Given the description of an element on the screen output the (x, y) to click on. 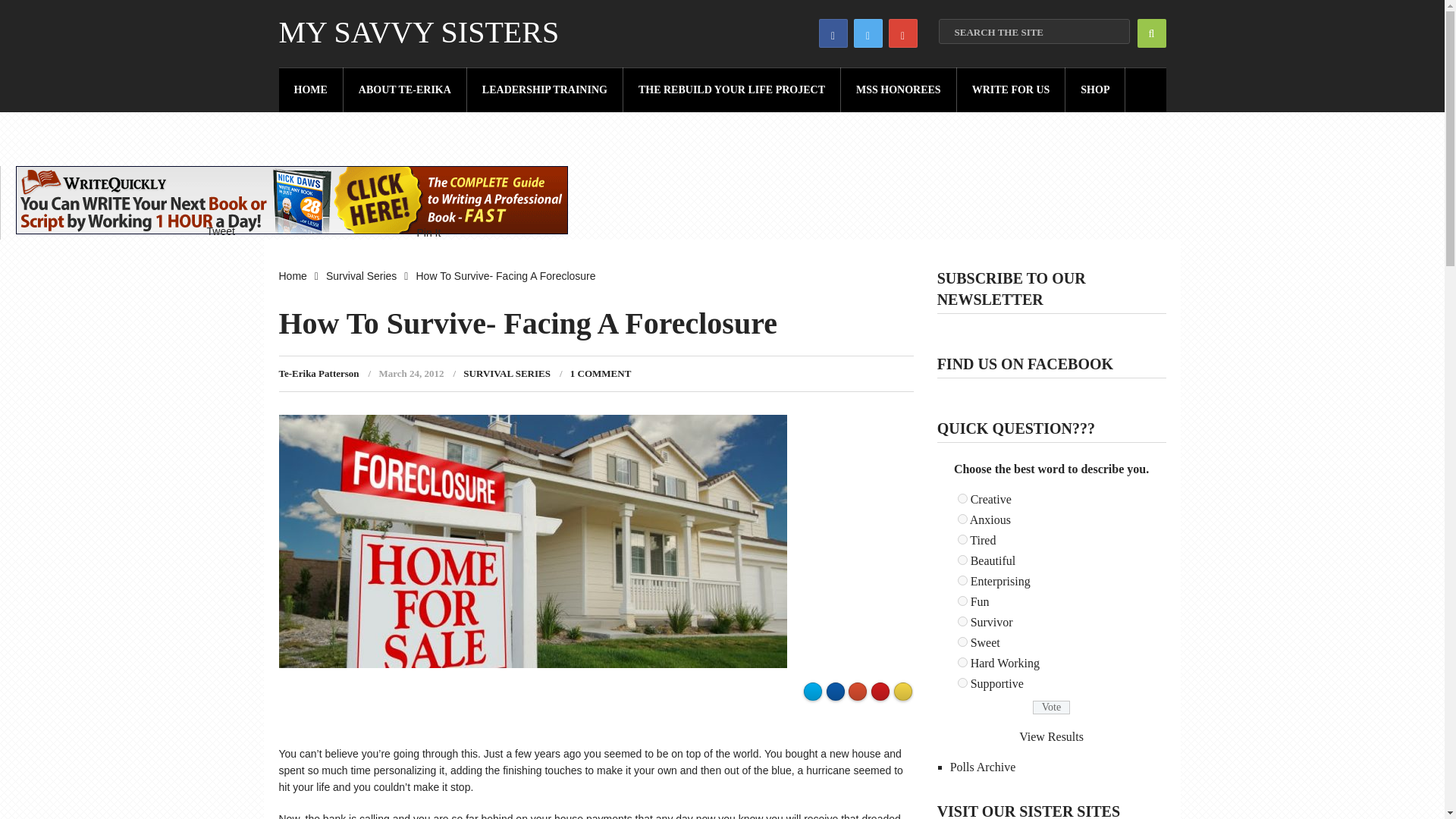
Polls Archive (983, 766)
ABOUT TE-ERIKA (405, 89)
SHOP (1095, 89)
58 (963, 539)
Te-Erika Patterson (319, 373)
60 (963, 580)
SURVIVAL SERIES (506, 373)
59 (963, 560)
Survival Series (361, 275)
61 (963, 601)
